Given the description of an element on the screen output the (x, y) to click on. 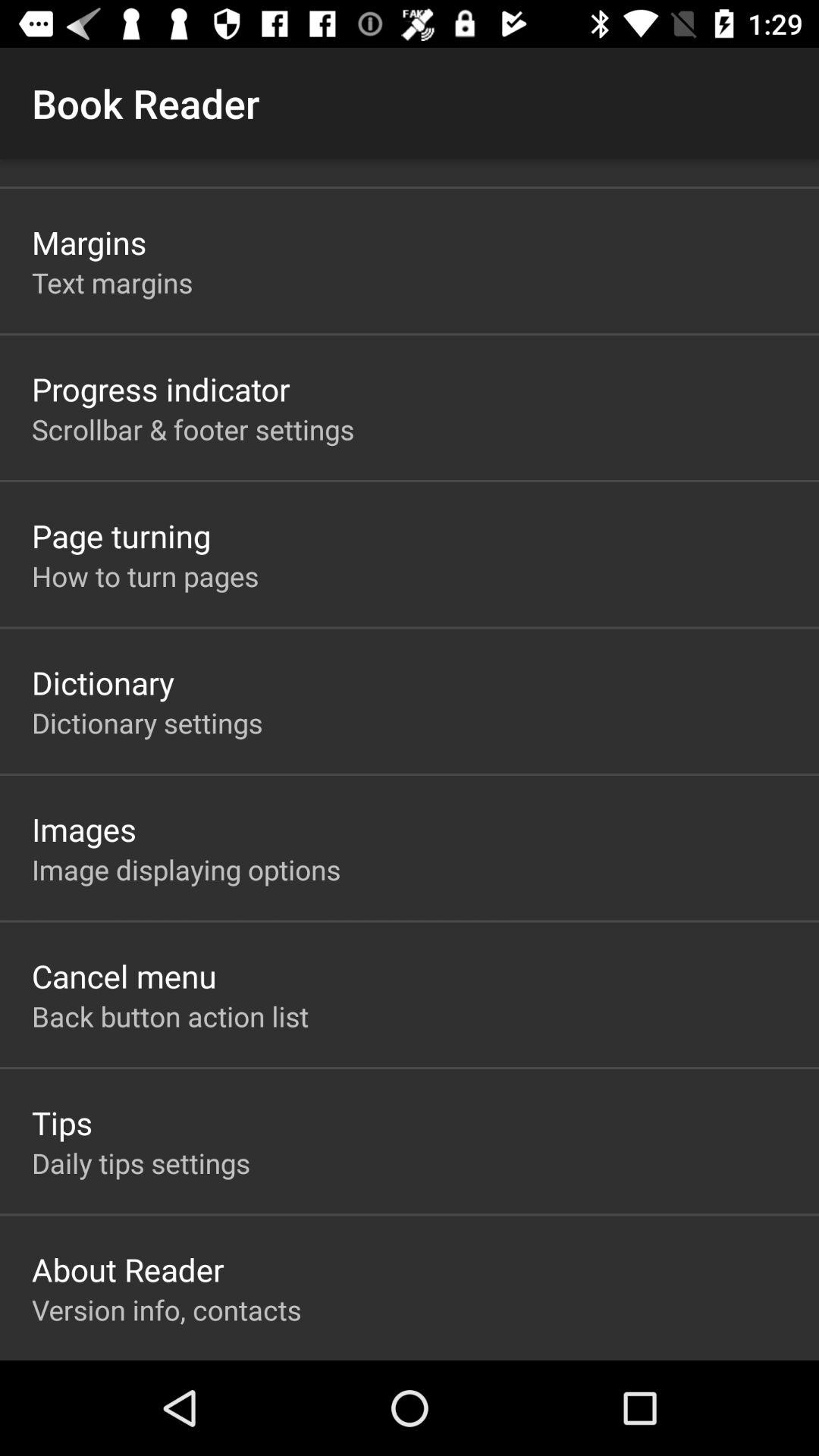
turn off the app above the about reader item (140, 1162)
